Given the description of an element on the screen output the (x, y) to click on. 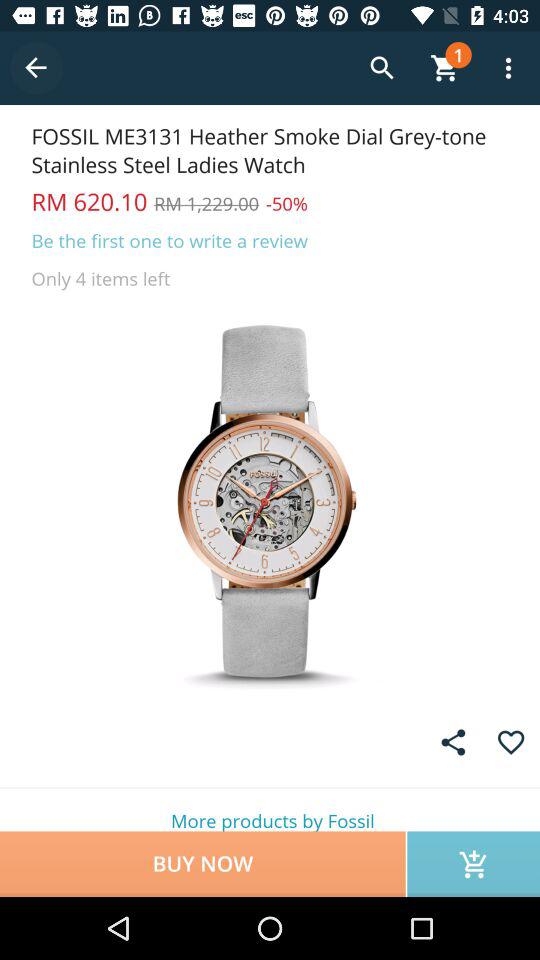
previous page (36, 68)
